Given the description of an element on the screen output the (x, y) to click on. 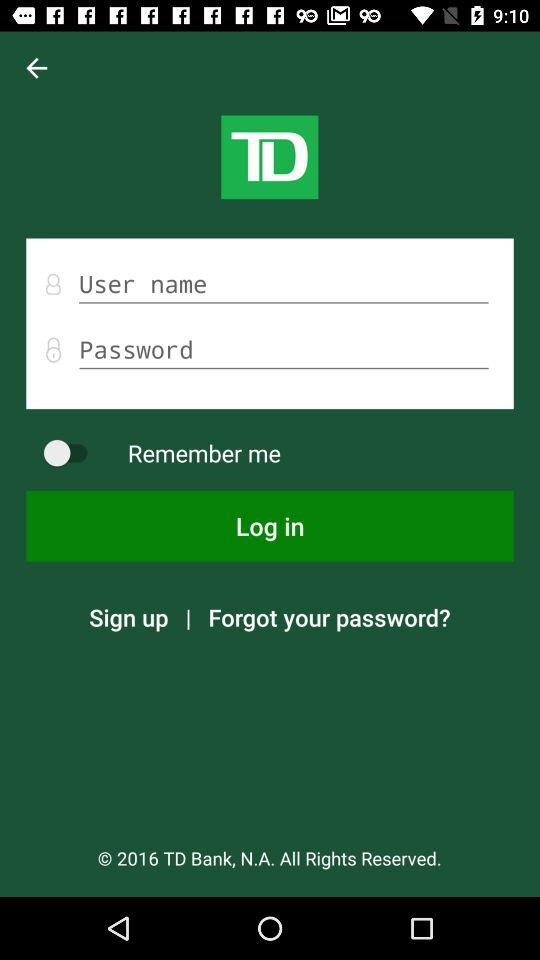
tap the icon next to | icon (128, 617)
